Given the description of an element on the screen output the (x, y) to click on. 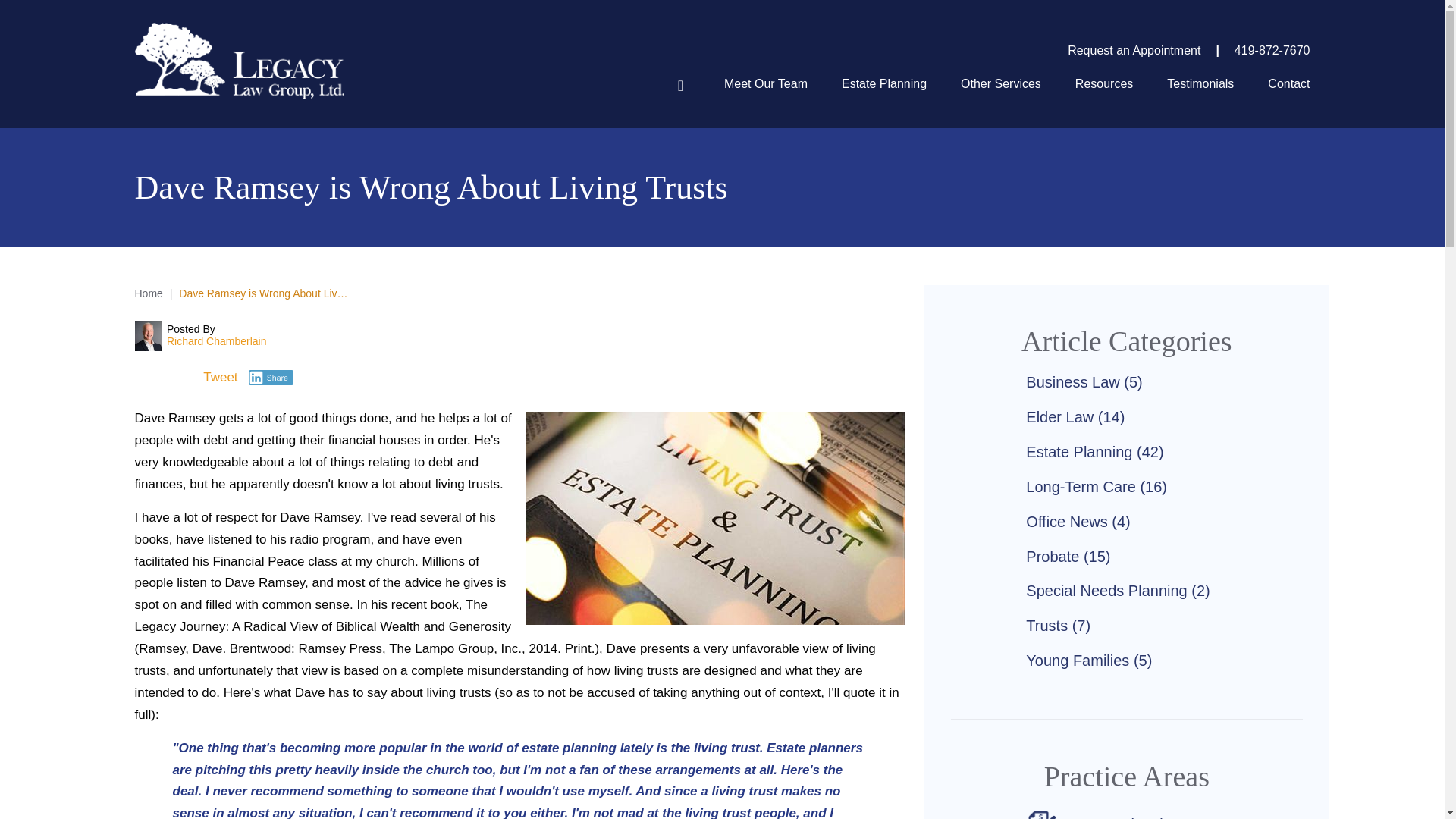
419-872-7670 (1261, 50)
Testimonials (1200, 84)
Read More about Estate Planning (1103, 815)
Meet Our Team (765, 84)
Other Services (1000, 84)
Request an Appointment (1133, 50)
Estate Planning (883, 84)
View Richard Chamberlain's Profile (216, 341)
Home (680, 84)
Contact (1288, 84)
Resources (1103, 84)
